Given the description of an element on the screen output the (x, y) to click on. 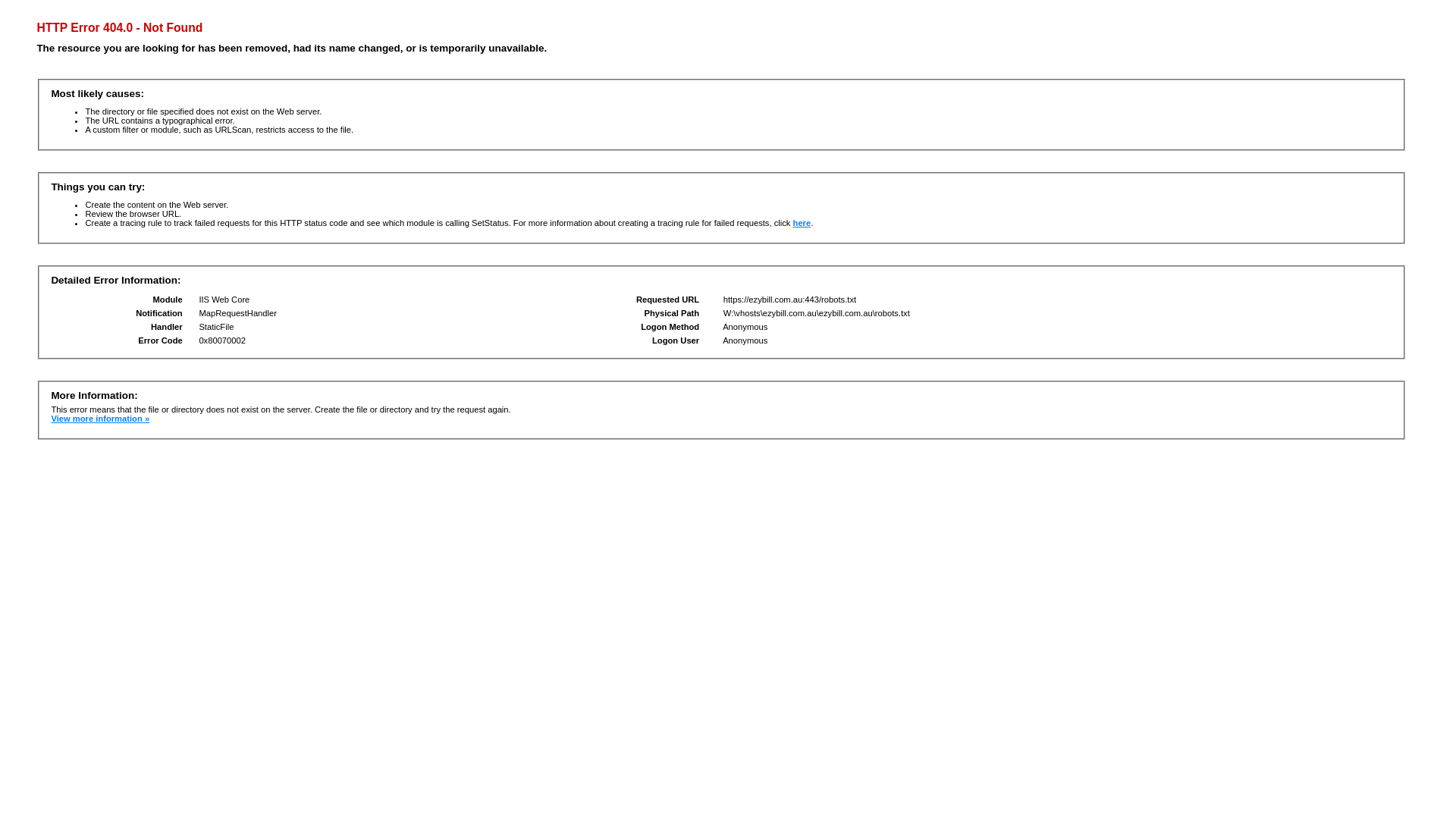
here Element type: text (802, 222)
